Given the description of an element on the screen output the (x, y) to click on. 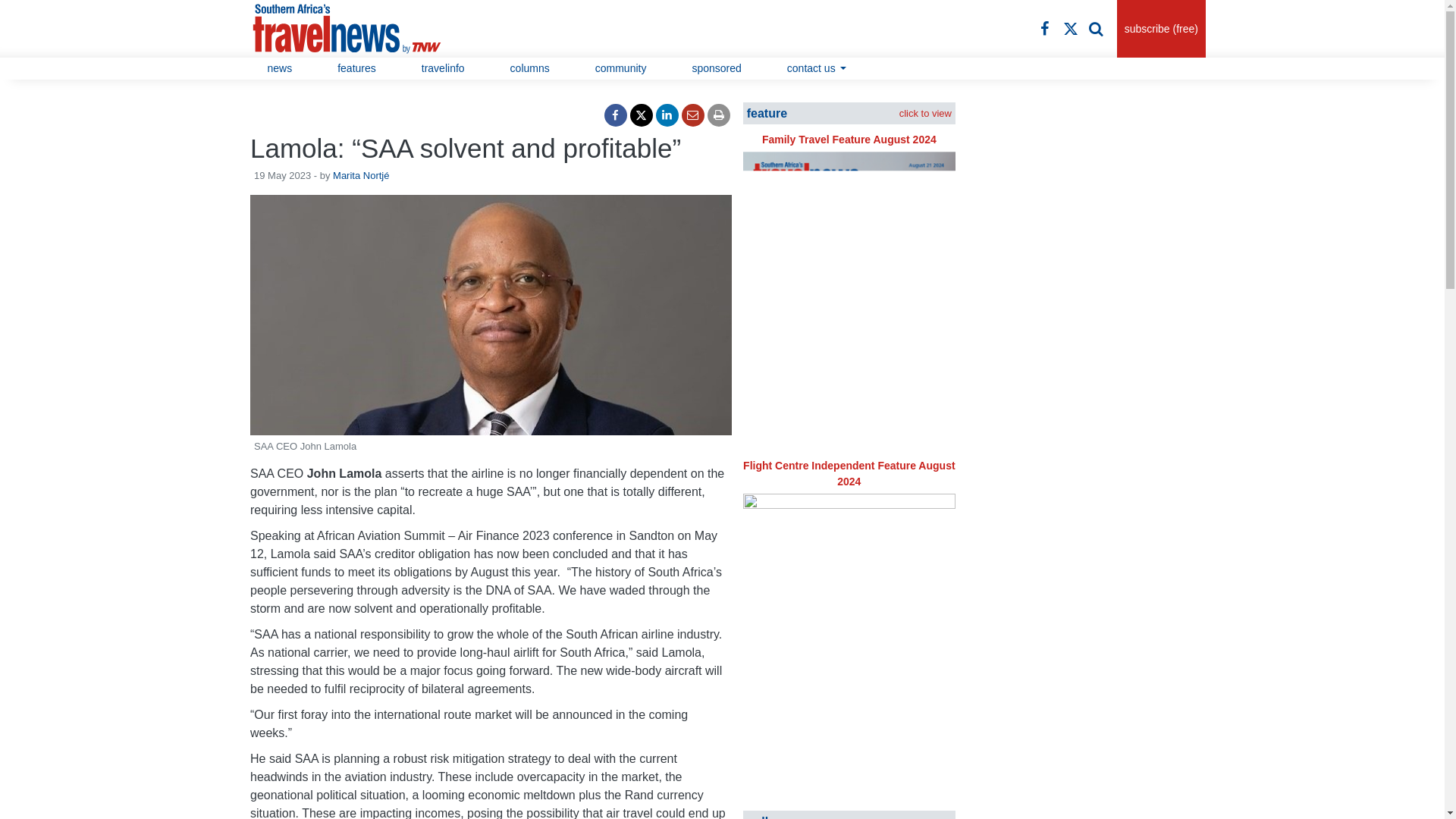
E-mail (692, 115)
LinkedIn (667, 115)
Twitter (1070, 28)
news (279, 68)
community (620, 68)
Facebook (1045, 28)
Home (364, 28)
contact us (816, 68)
Facebook (615, 115)
Facebook (1045, 28)
